Given the description of an element on the screen output the (x, y) to click on. 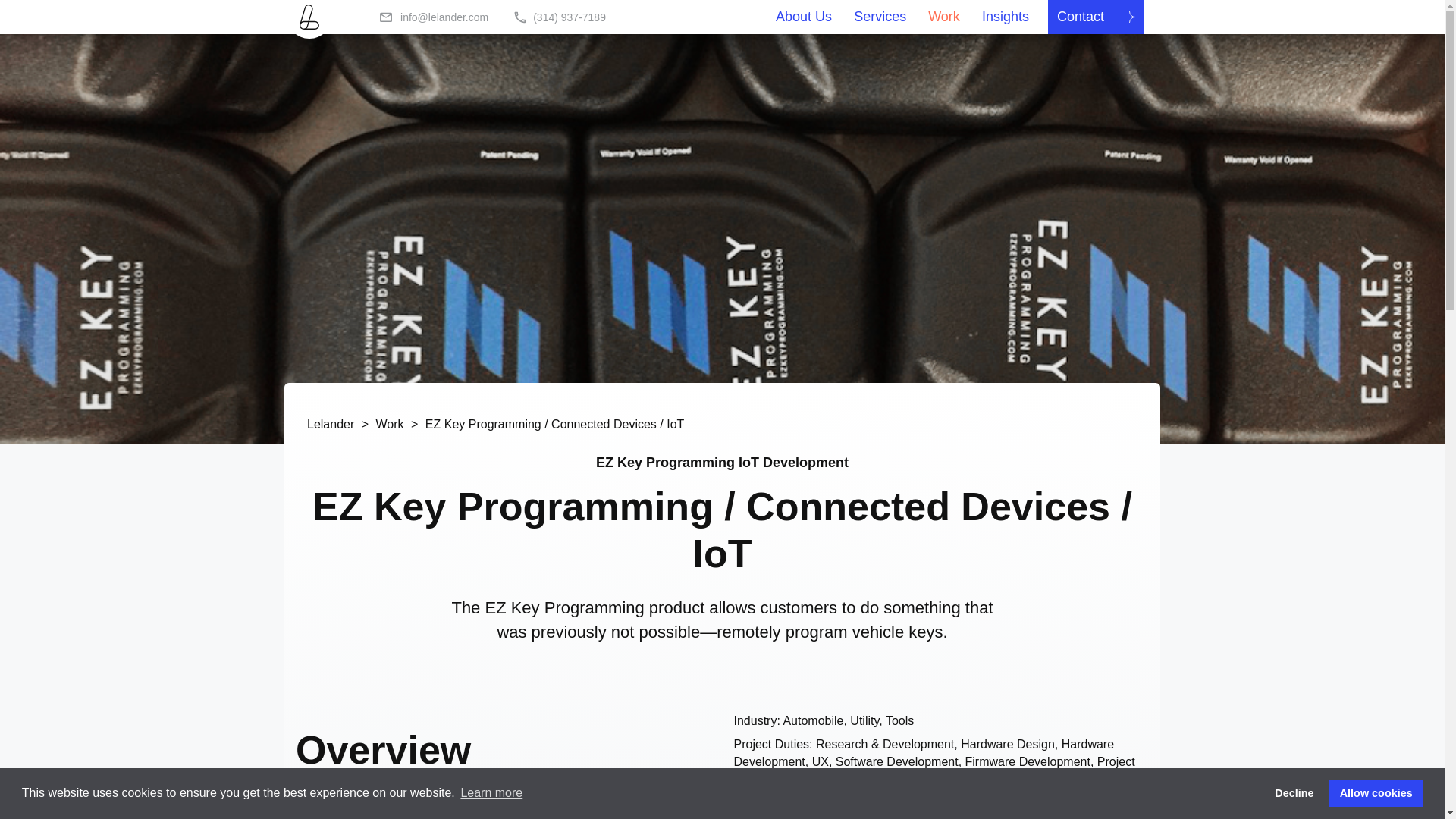
Services (879, 16)
Allow cookies (1375, 792)
Learn more (491, 792)
Work (389, 423)
Services (879, 16)
Contact (1082, 16)
About Us (803, 16)
Work (943, 16)
Work (943, 16)
Lelander (330, 423)
Insights (1005, 16)
Decline (1294, 792)
Email Lelander (448, 17)
About Us (803, 16)
